Given the description of an element on the screen output the (x, y) to click on. 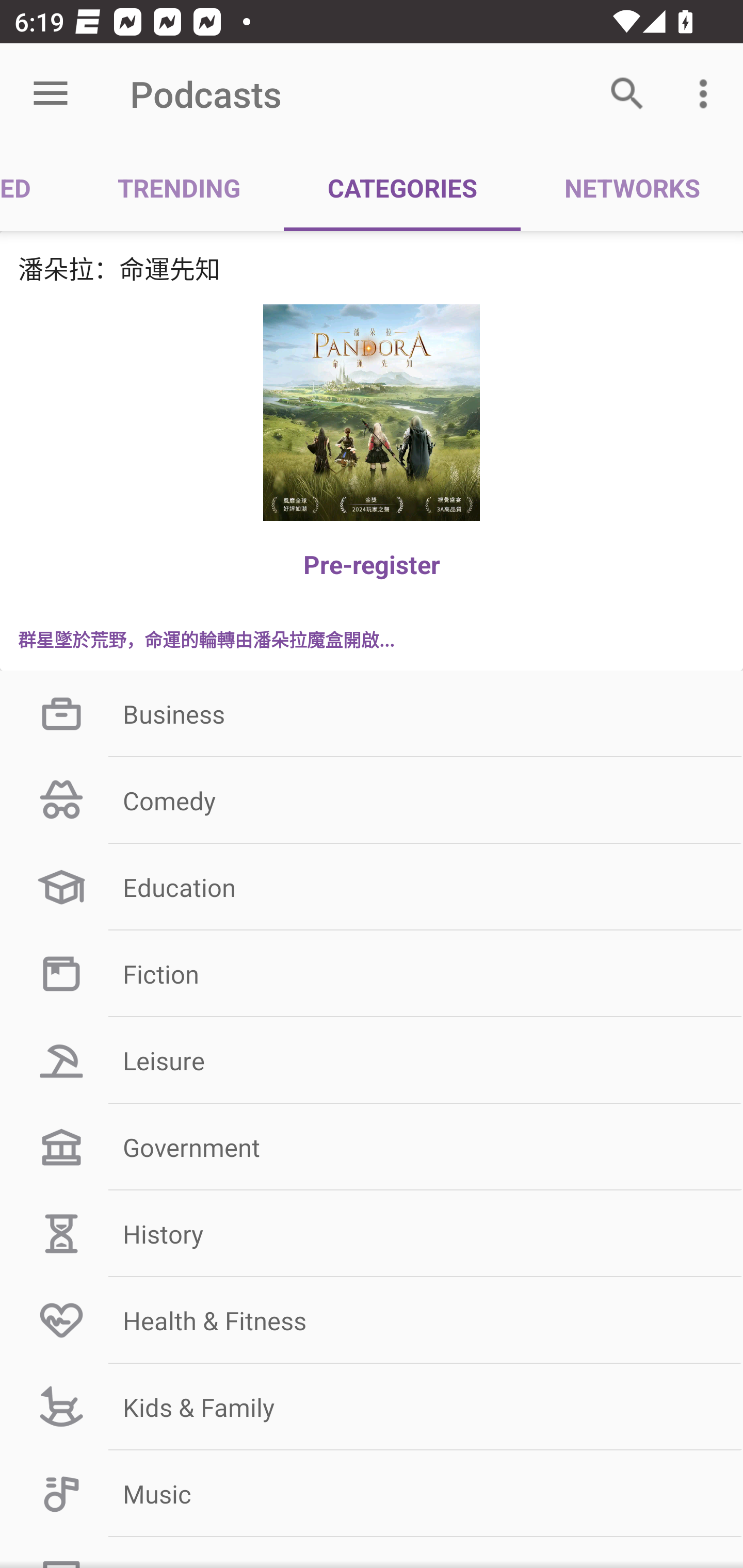
Open menu (50, 93)
Search (626, 93)
More options (706, 93)
TRENDING (178, 187)
CATEGORIES (401, 187)
NETWORKS (631, 187)
潘朵拉：命運先知 (371, 267)
Pre-register (371, 564)
群星墜於荒野，命運的輪轉由潘朵拉魔盒開啟... (371, 638)
Business (371, 714)
Comedy (371, 800)
Education (371, 886)
Fiction (371, 973)
Leisure (371, 1060)
Government (371, 1146)
History (371, 1233)
Health & Fitness (371, 1320)
Kids & Family (371, 1407)
Music (371, 1493)
